Given the description of an element on the screen output the (x, y) to click on. 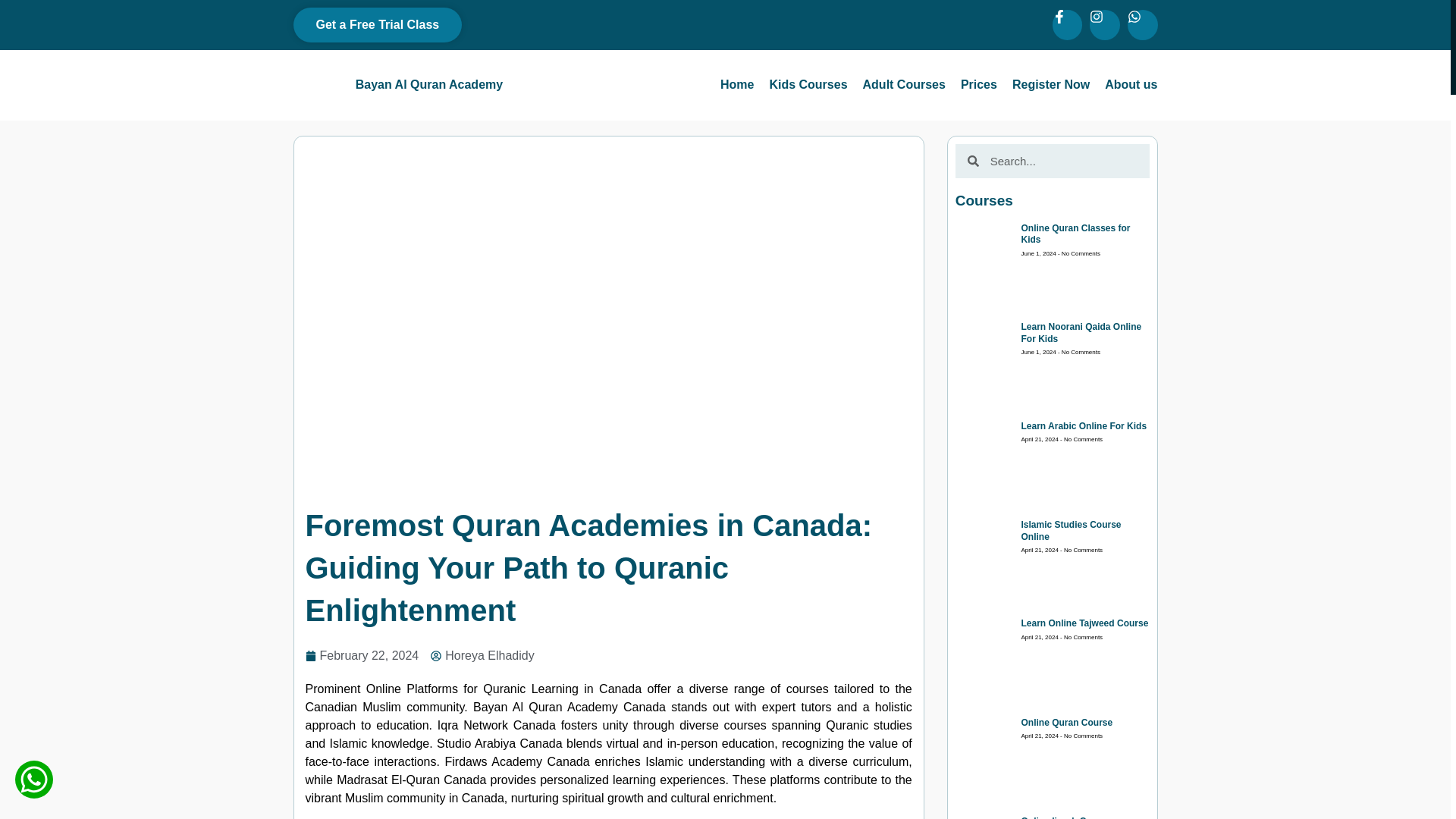
Kids Courses (807, 84)
Register Now (1050, 84)
Get a Free Trial Class (376, 24)
Adult Courses (903, 84)
About us (1131, 84)
Bayan Al Quran Academy (428, 83)
Prices (978, 84)
Home (737, 84)
